Given the description of an element on the screen output the (x, y) to click on. 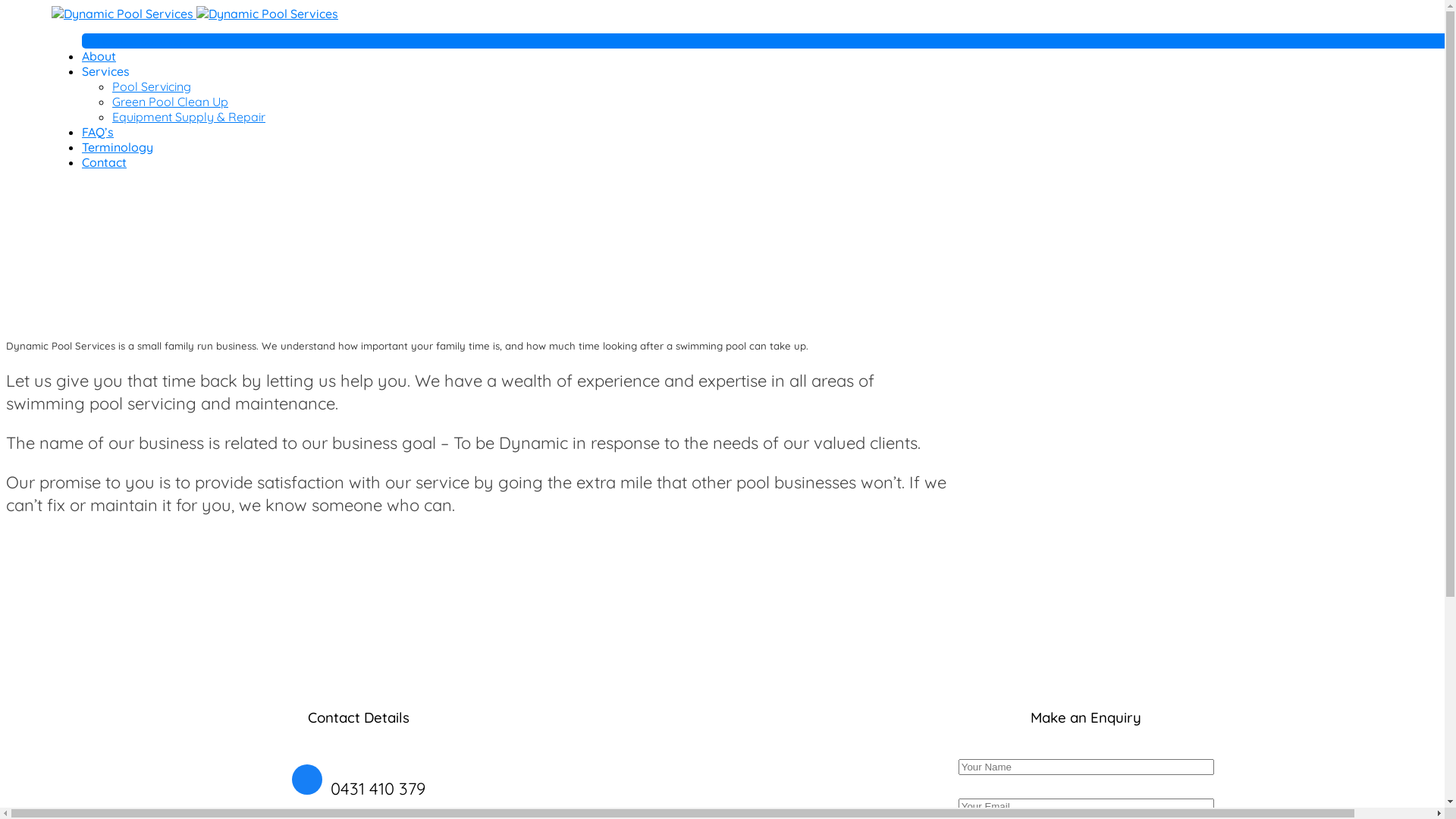
Equipment Supply & Repair Element type: text (188, 116)
pools-2000px_0001_Layer 4 Element type: hover (975, 432)
Services Element type: text (105, 70)
Book a Service Element type: text (139, 40)
Pool Servicing Element type: text (151, 86)
About Element type: text (98, 55)
Green Pool Clean Up Element type: text (170, 101)
Terminology Element type: text (117, 146)
Contact Element type: text (103, 161)
